Given the description of an element on the screen output the (x, y) to click on. 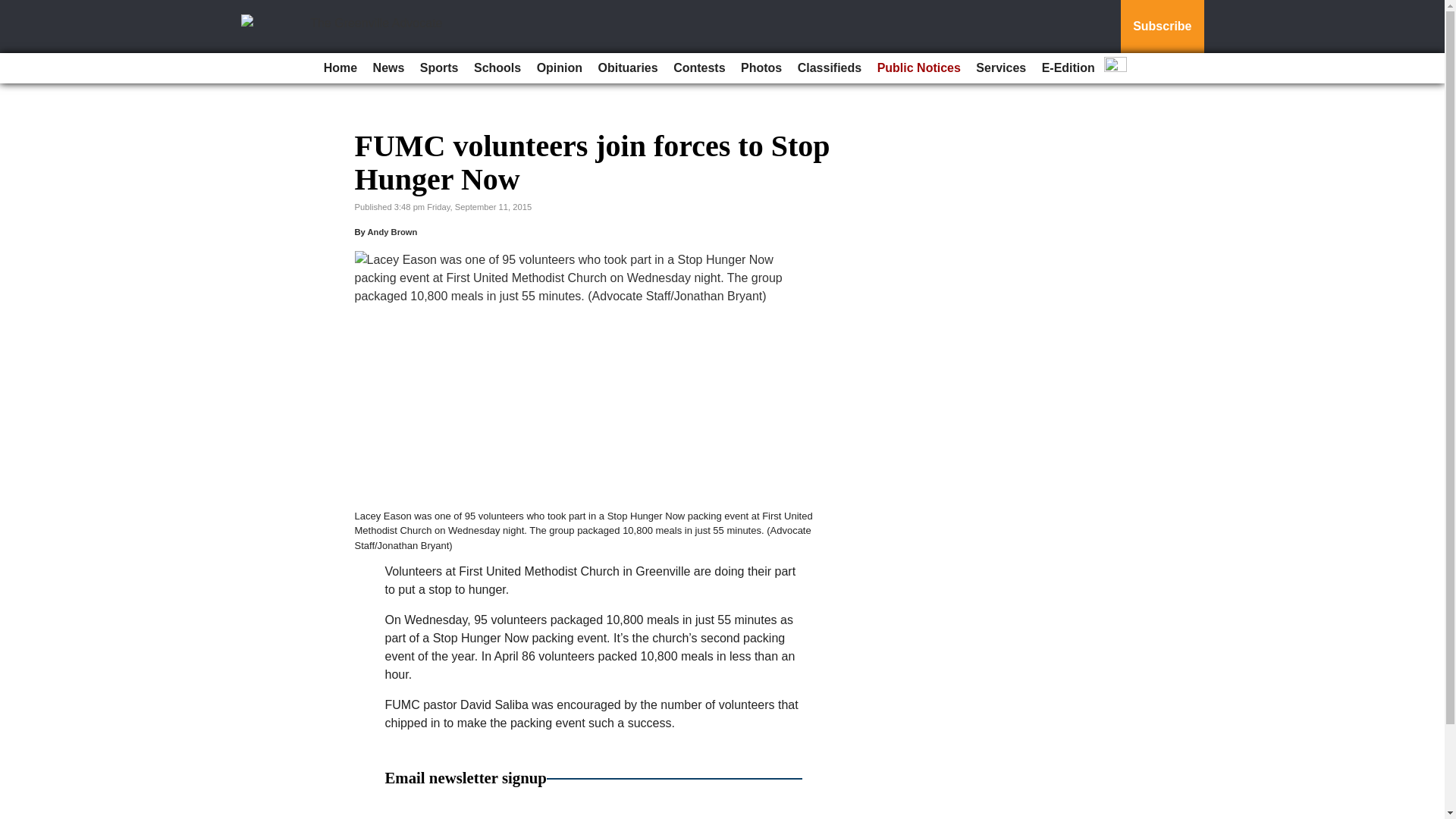
Services (1000, 68)
Photos (761, 68)
Andy Brown (391, 231)
Schools (497, 68)
Obituaries (627, 68)
Public Notices (918, 68)
News (388, 68)
Classifieds (829, 68)
Go (13, 9)
Contests (698, 68)
